Given the description of an element on the screen output the (x, y) to click on. 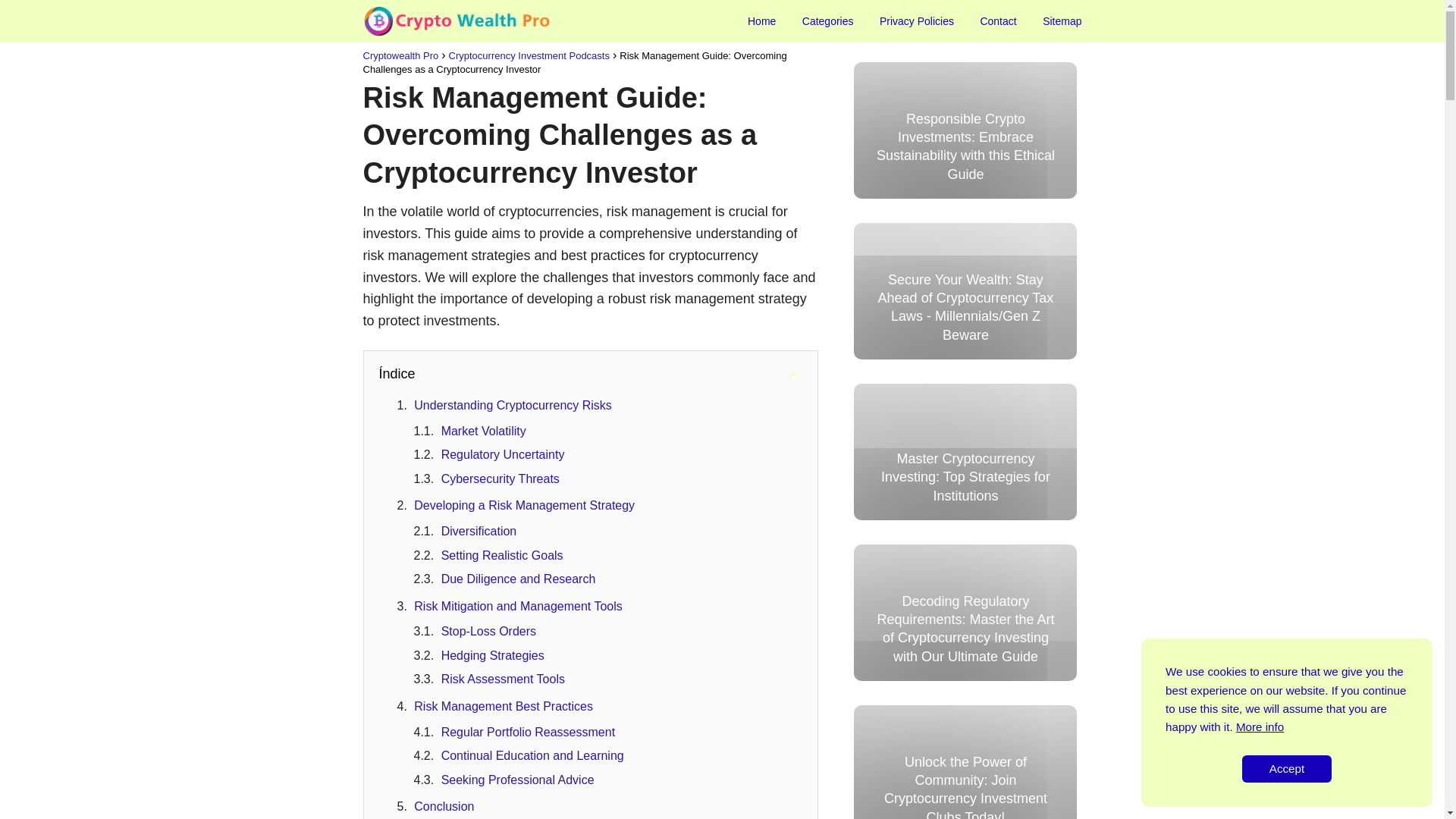
Hedging Strategies (492, 655)
Regular Portfolio Reassessment (527, 731)
Categories (827, 21)
Cybersecurity Threats (500, 478)
Developing a Risk Management Strategy (523, 504)
Market Volatility (483, 431)
Contact (997, 21)
Sitemap (1061, 21)
Understanding Cryptocurrency Risks (512, 404)
Developing a Risk Management Strategy (523, 504)
